Given the description of an element on the screen output the (x, y) to click on. 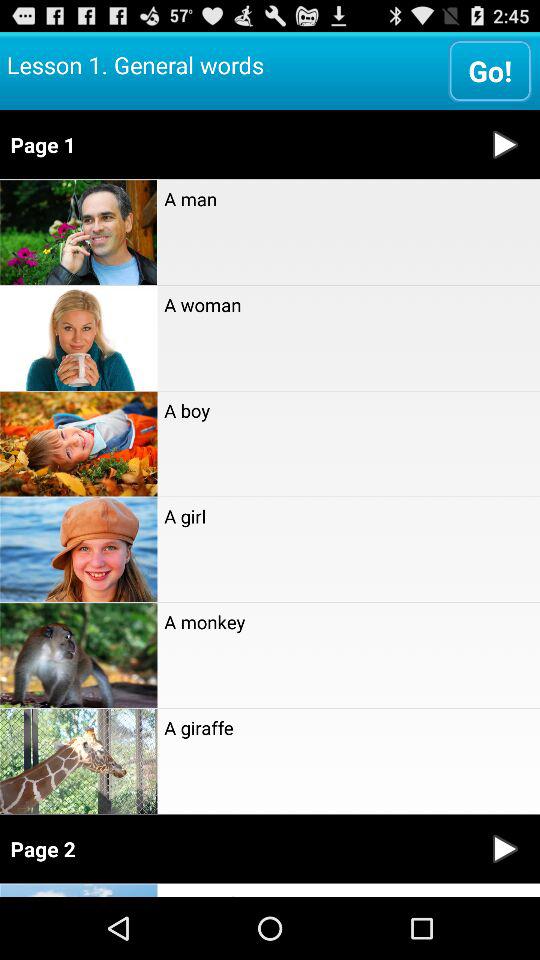
scroll to the go! icon (490, 70)
